Given the description of an element on the screen output the (x, y) to click on. 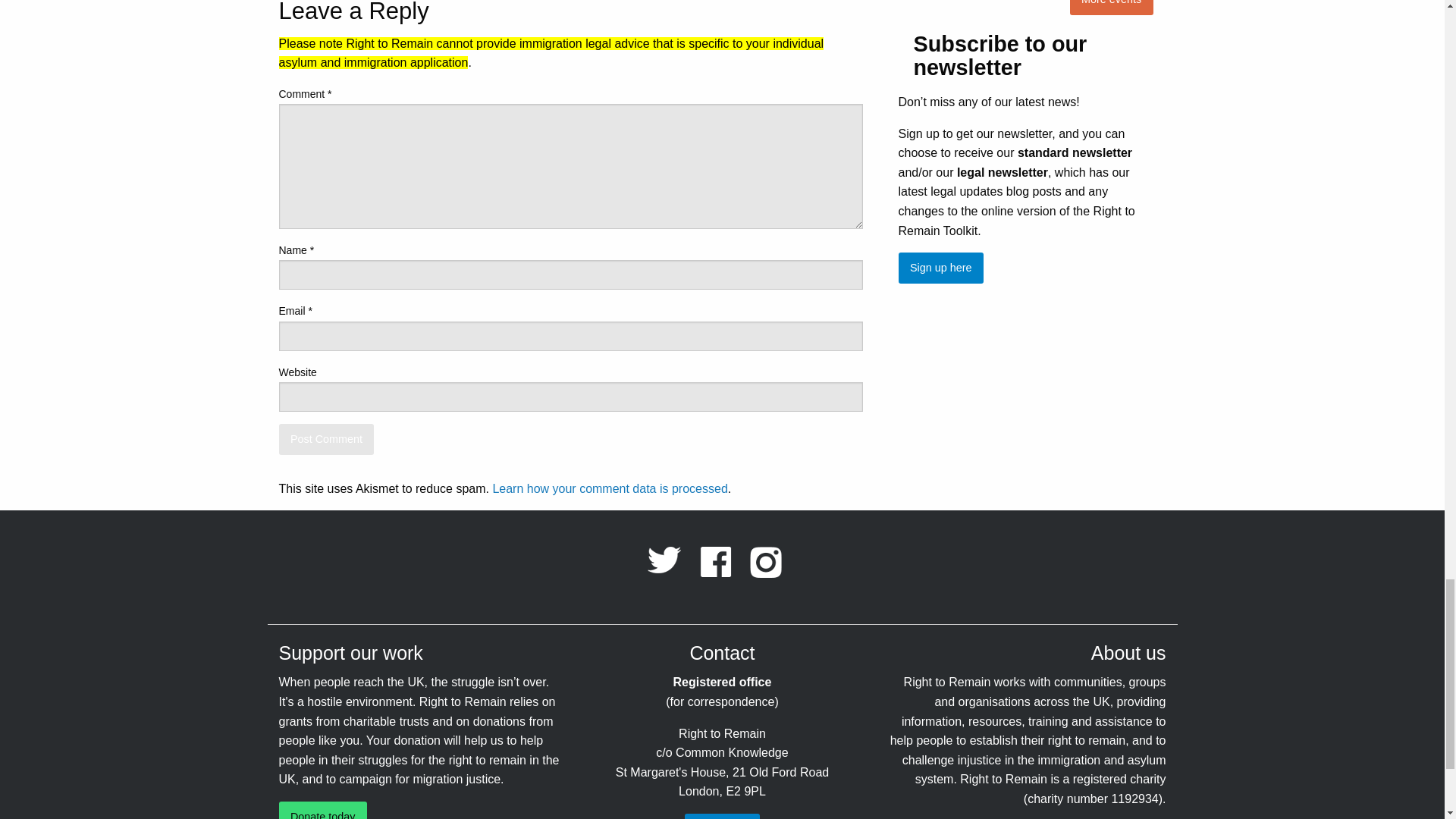
Learn how your comment data is processed (609, 488)
Post Comment (326, 439)
Post Comment (326, 439)
